Given the description of an element on the screen output the (x, y) to click on. 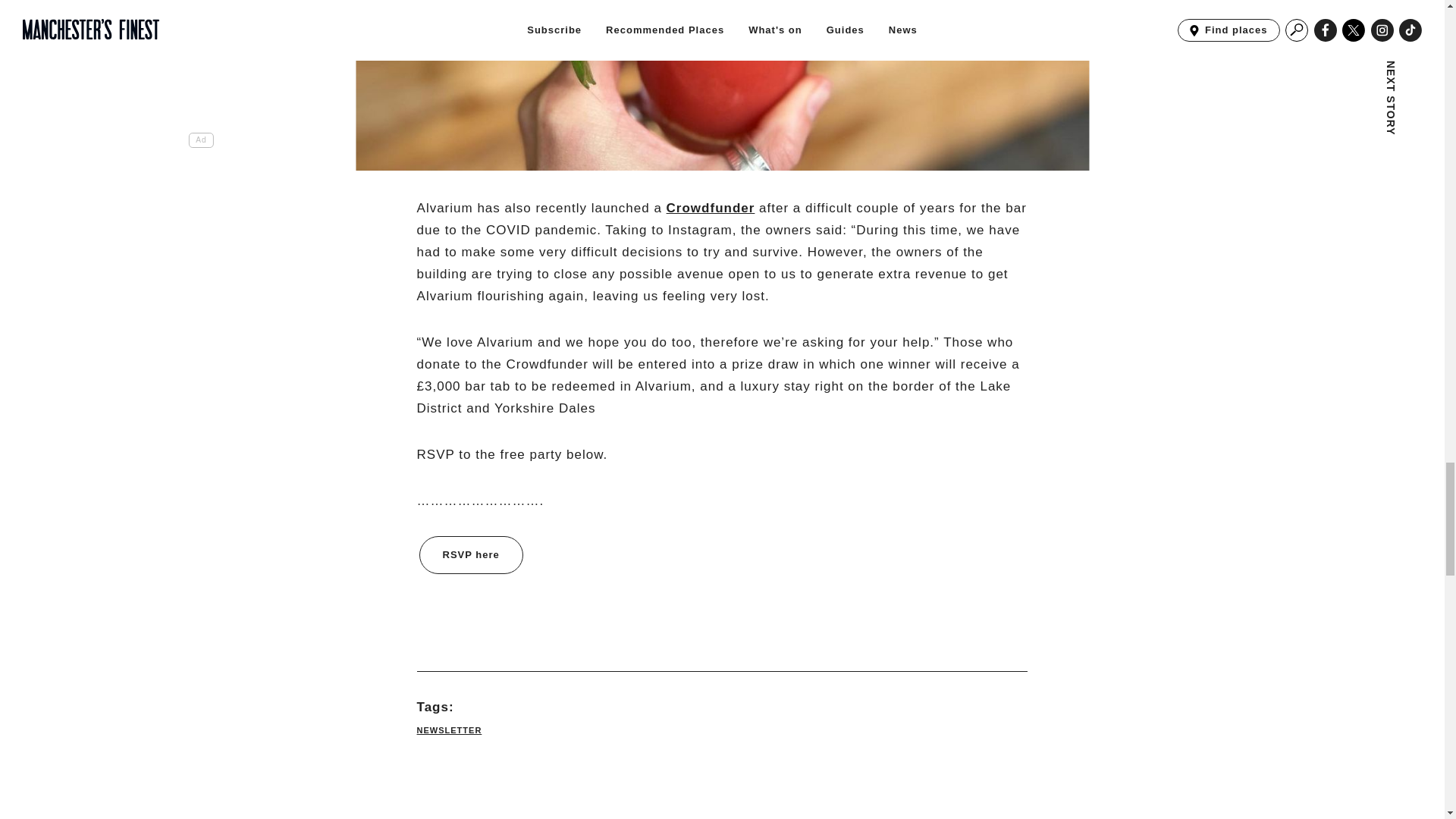
NEWSLETTER (448, 730)
Crowdfunder (710, 207)
RSVP here (470, 555)
